Given the description of an element on the screen output the (x, y) to click on. 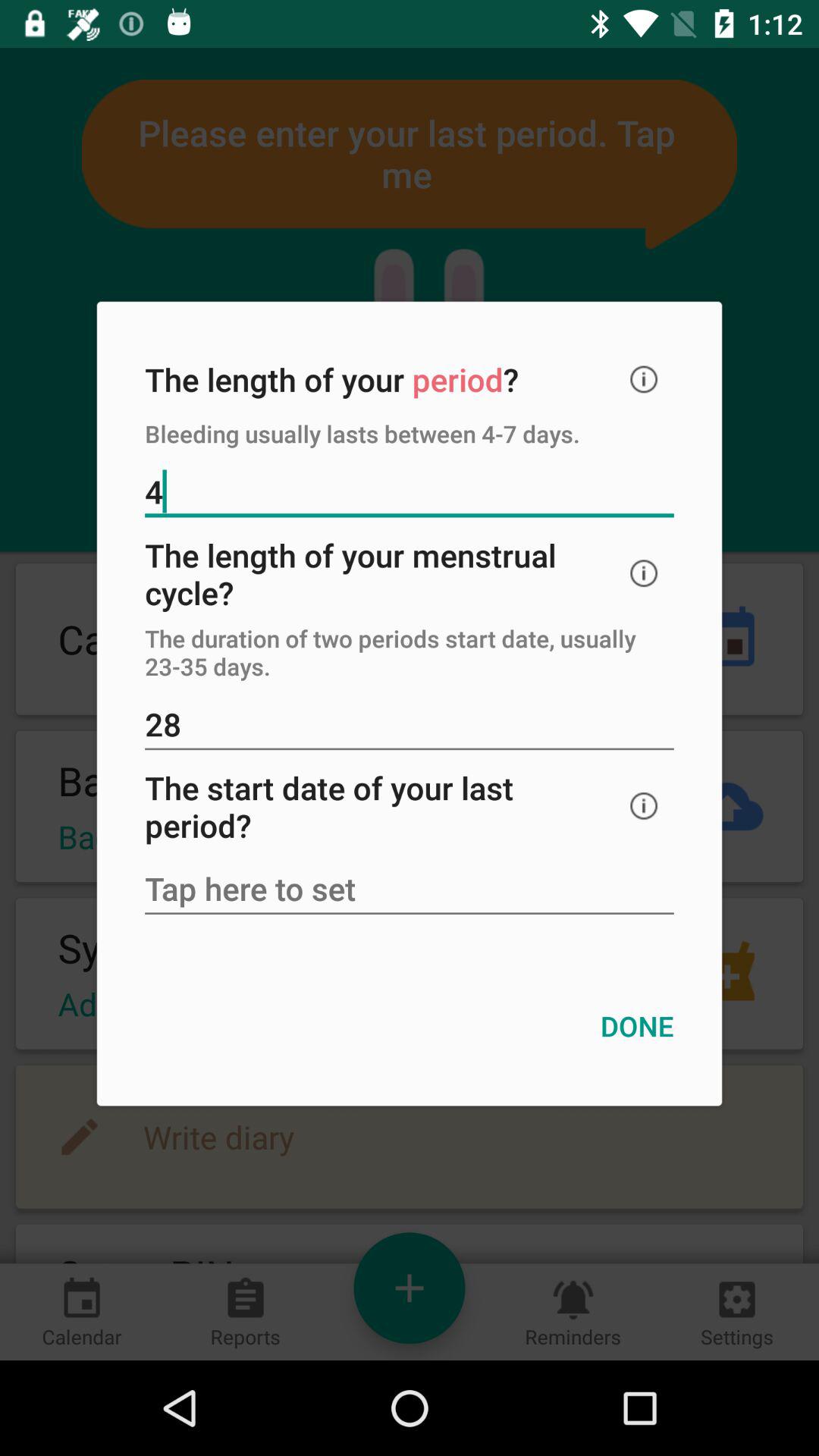
turn off done (636, 1025)
